Given the description of an element on the screen output the (x, y) to click on. 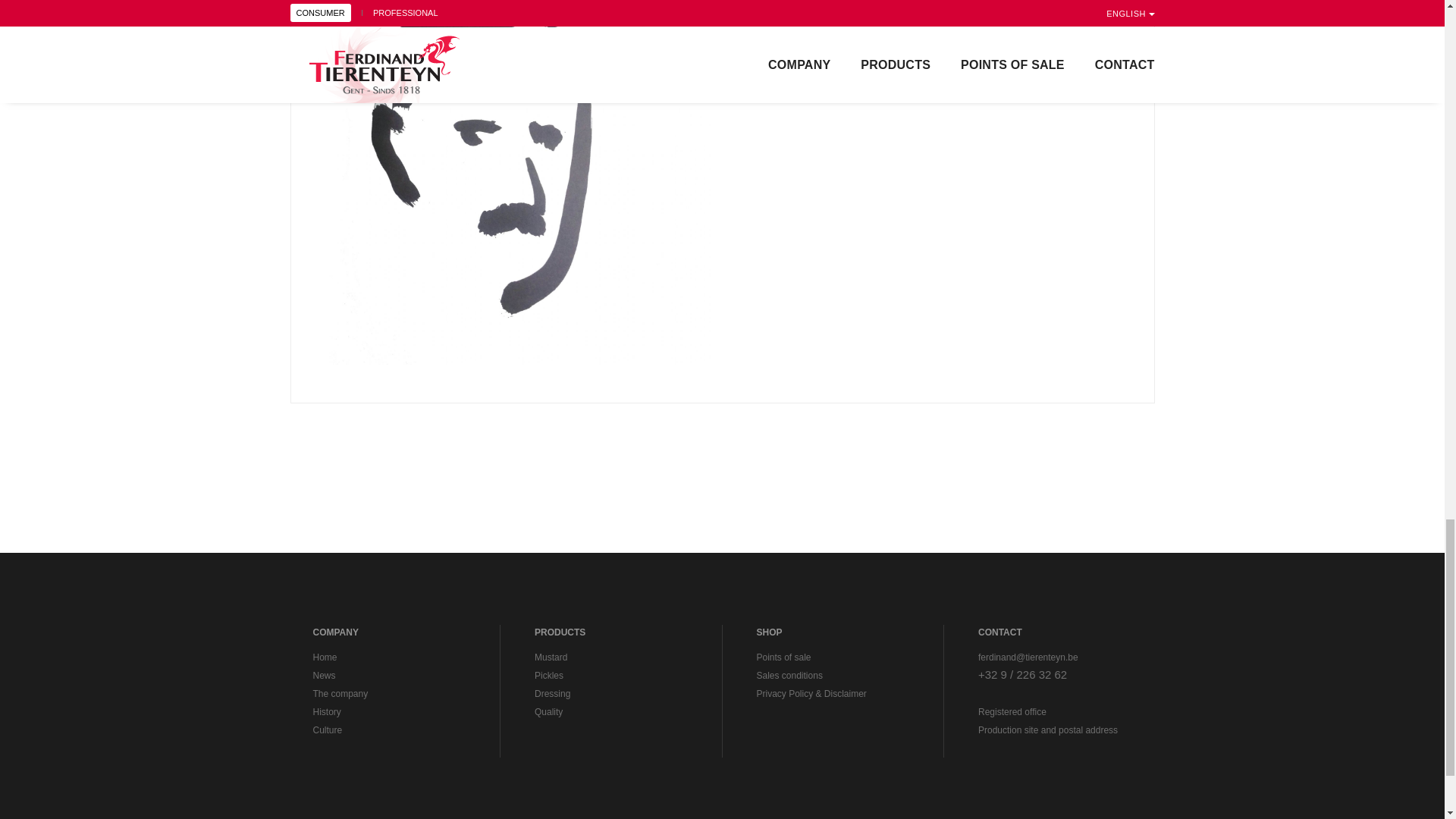
Pickles (548, 675)
Points of sale (783, 656)
The company (340, 693)
Culture (327, 729)
Home (324, 656)
History (326, 711)
Sales conditions (789, 675)
Dressing (552, 693)
Registered office (1012, 711)
News (323, 675)
Quality (548, 711)
Production site and postal address (1048, 729)
Mustard (550, 656)
